Given the description of an element on the screen output the (x, y) to click on. 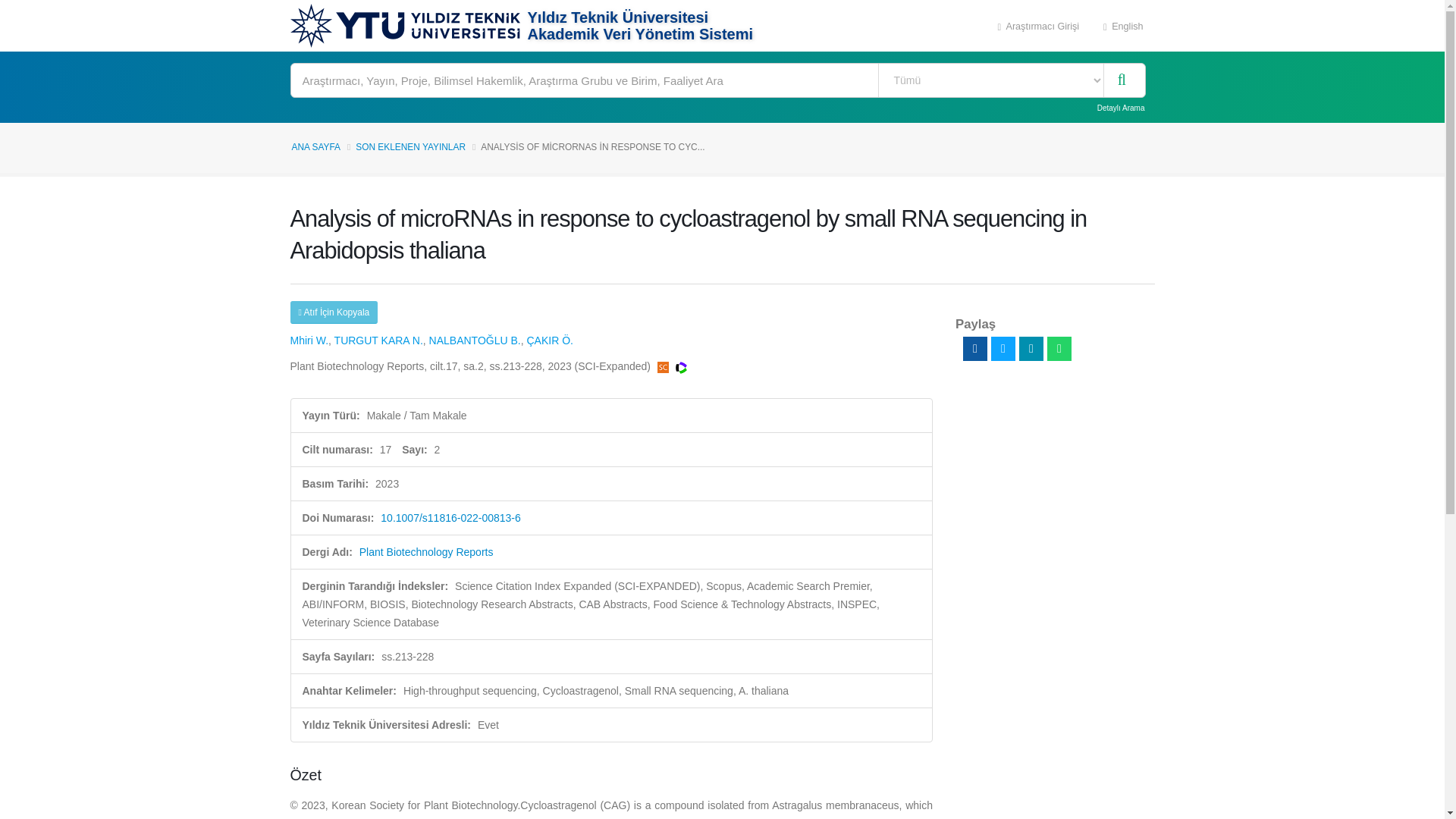
ANA SAYFA (315, 146)
Plant Biotechnology Reports (426, 551)
English (1123, 26)
Mhiri W. (309, 340)
SON EKLENEN YAYINLAR (410, 146)
TURGUT KARA N. (378, 340)
Wissem Mhiri (309, 340)
